Given the description of an element on the screen output the (x, y) to click on. 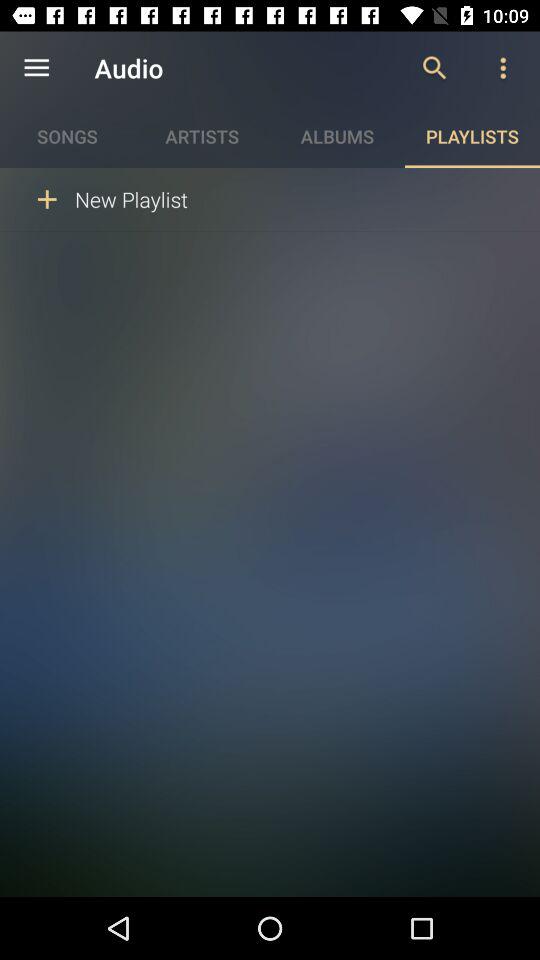
choose the icon to the right of the audio icon (434, 67)
